Given the description of an element on the screen output the (x, y) to click on. 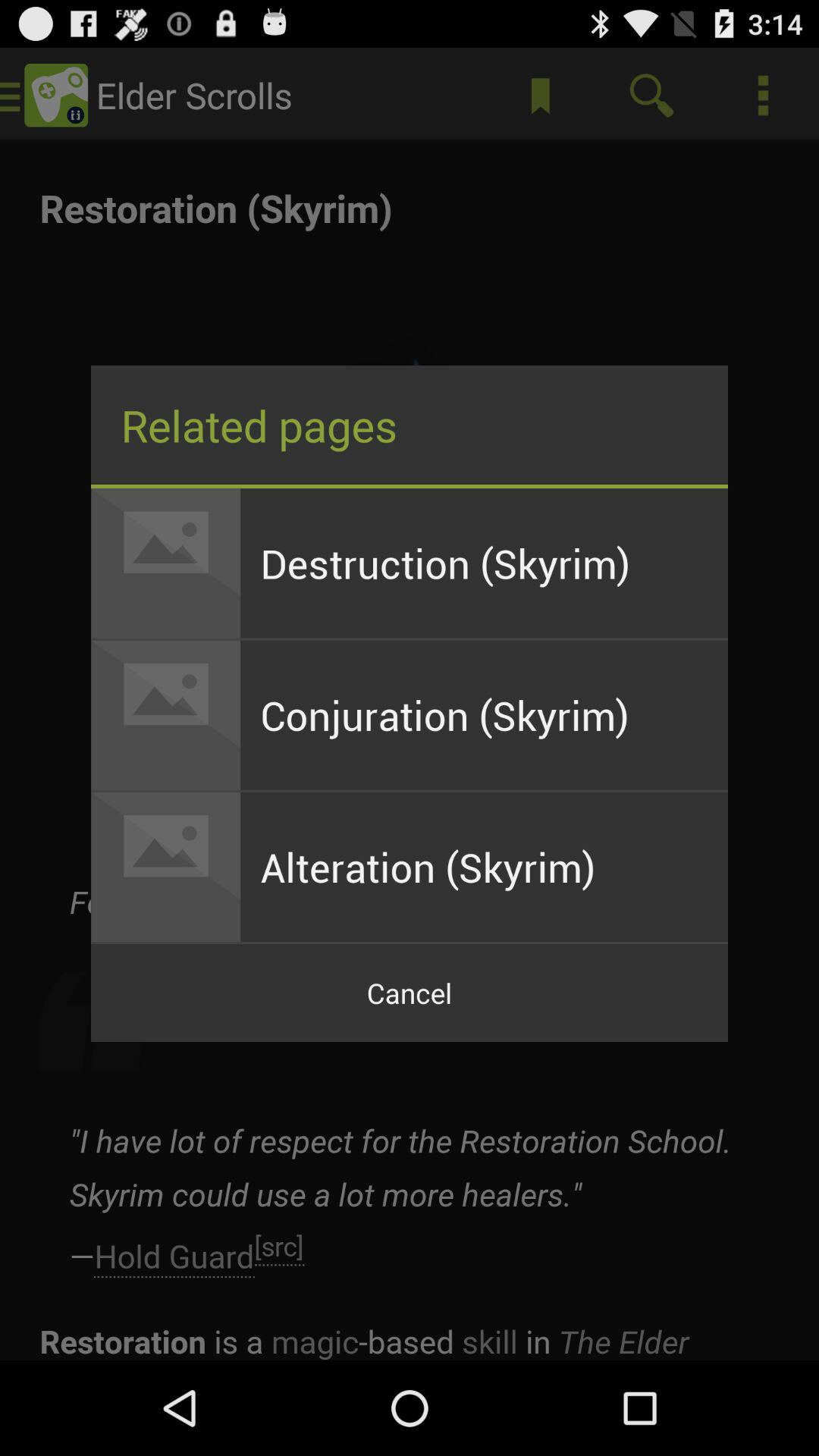
select the icon above conjuration (skyrim) app (484, 563)
